Given the description of an element on the screen output the (x, y) to click on. 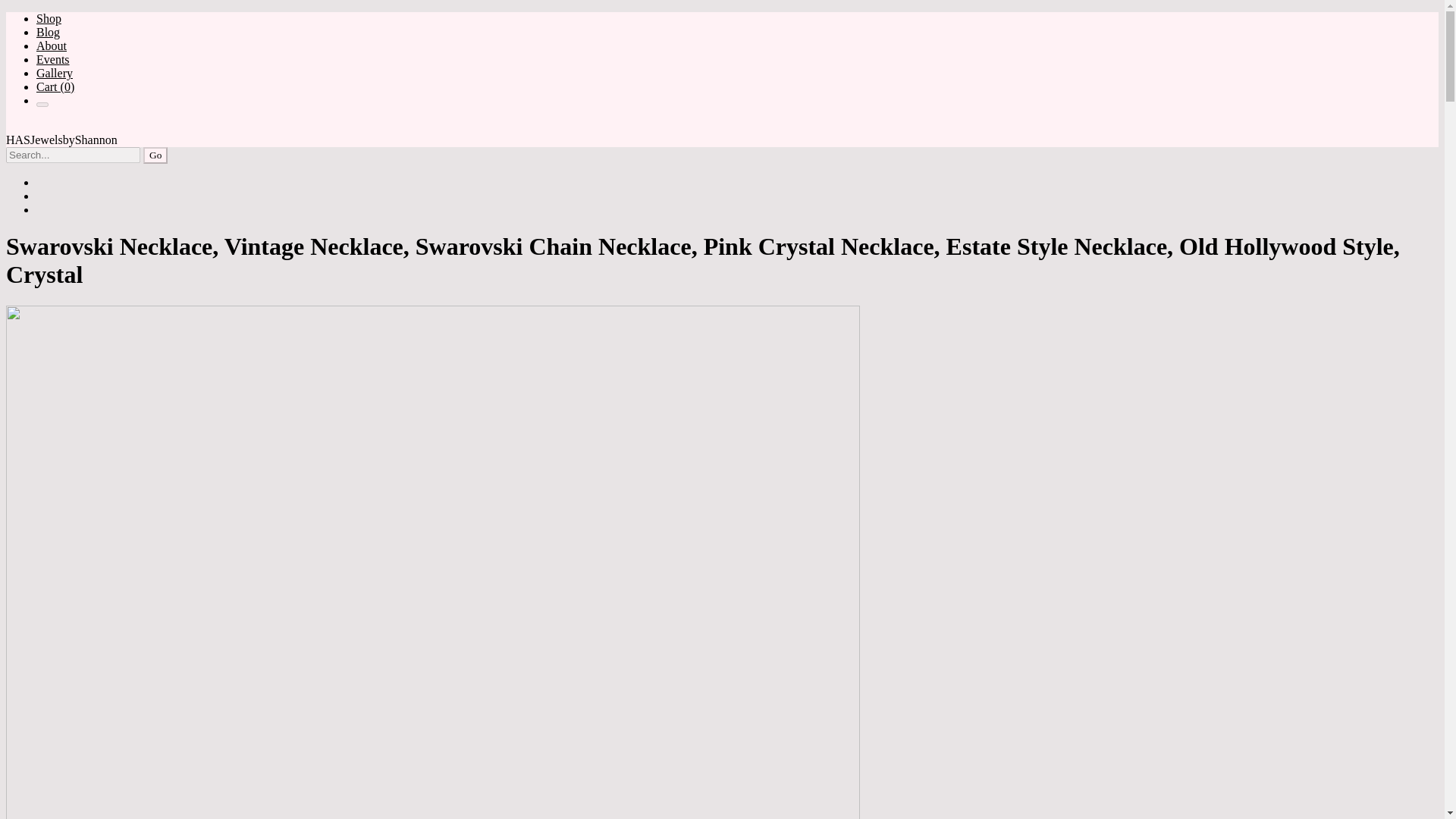
Go (154, 155)
Blog (47, 31)
Go (154, 155)
Gallery (54, 72)
Events (52, 59)
About (51, 45)
Shop (48, 18)
